Given the description of an element on the screen output the (x, y) to click on. 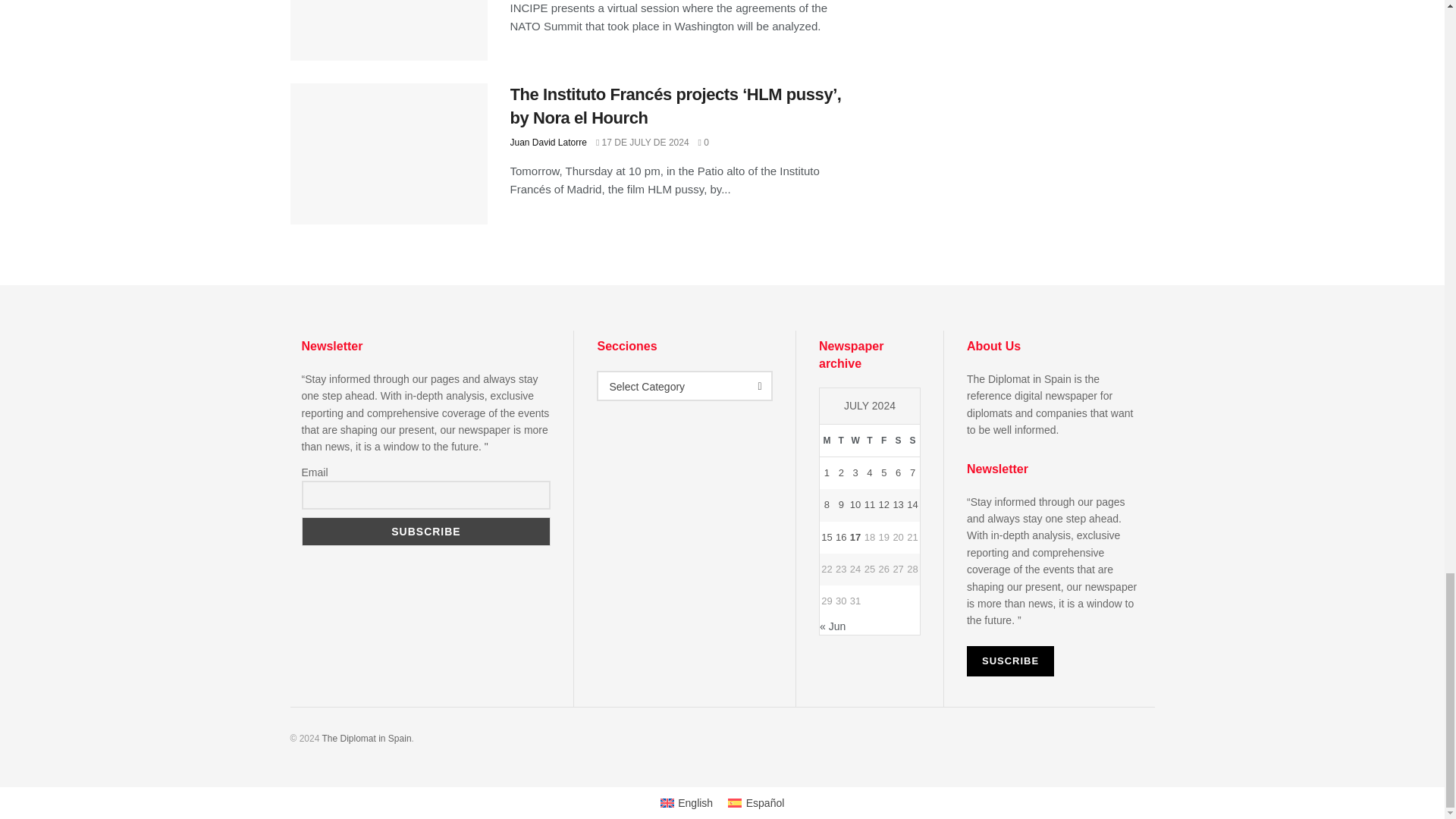
Sunday (912, 441)
Tuesday (841, 441)
The Diplomat in Spain (365, 738)
Saturday (898, 441)
Thursday (870, 441)
Friday (883, 441)
Wednesday (855, 441)
Monday (826, 441)
Subscribe (426, 531)
